Given the description of an element on the screen output the (x, y) to click on. 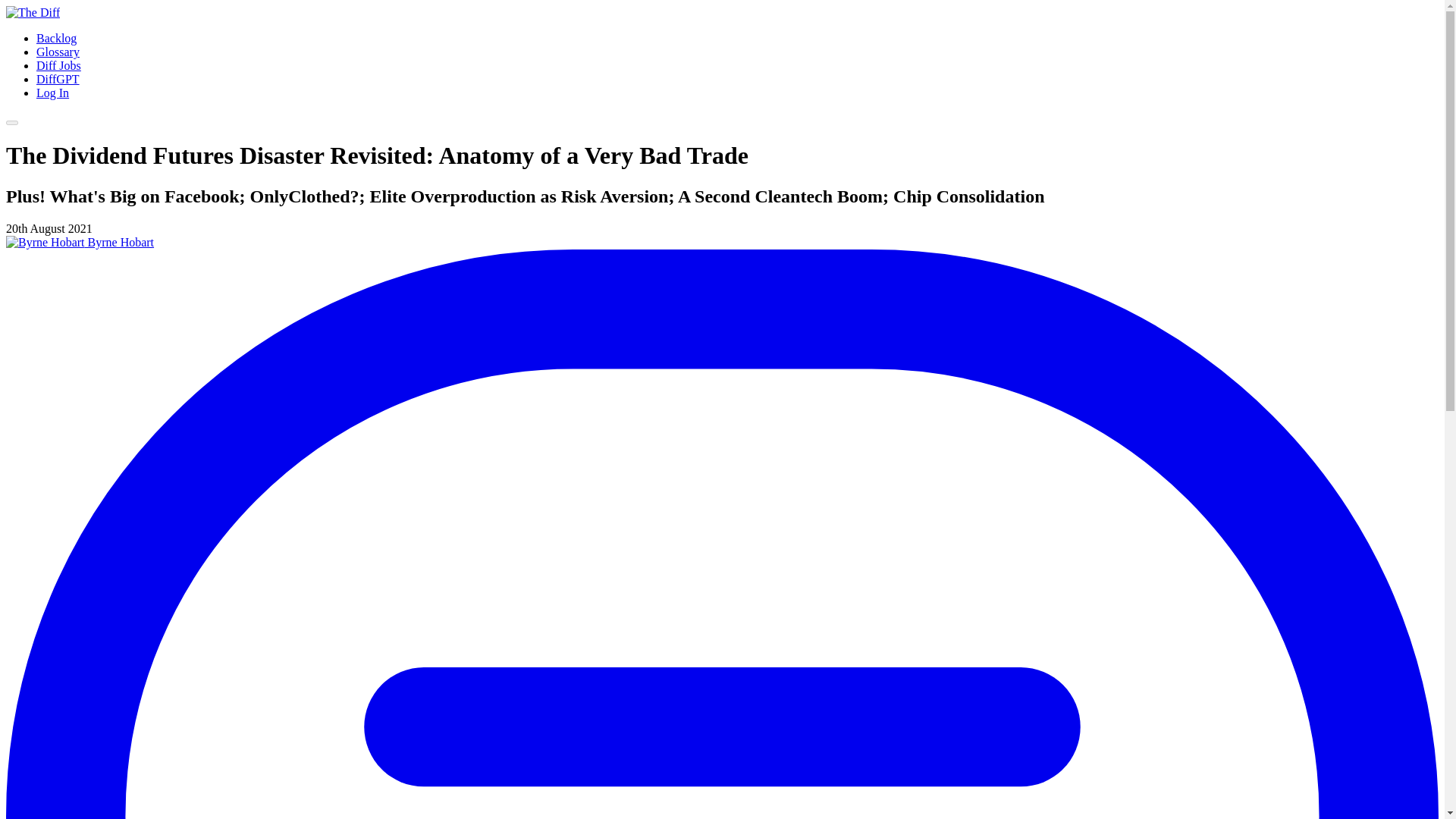
Diff Jobs (58, 65)
Byrne Hobart (79, 241)
DiffGPT (58, 78)
Log In (52, 92)
Glossary (58, 51)
Backlog (56, 38)
